Given the description of an element on the screen output the (x, y) to click on. 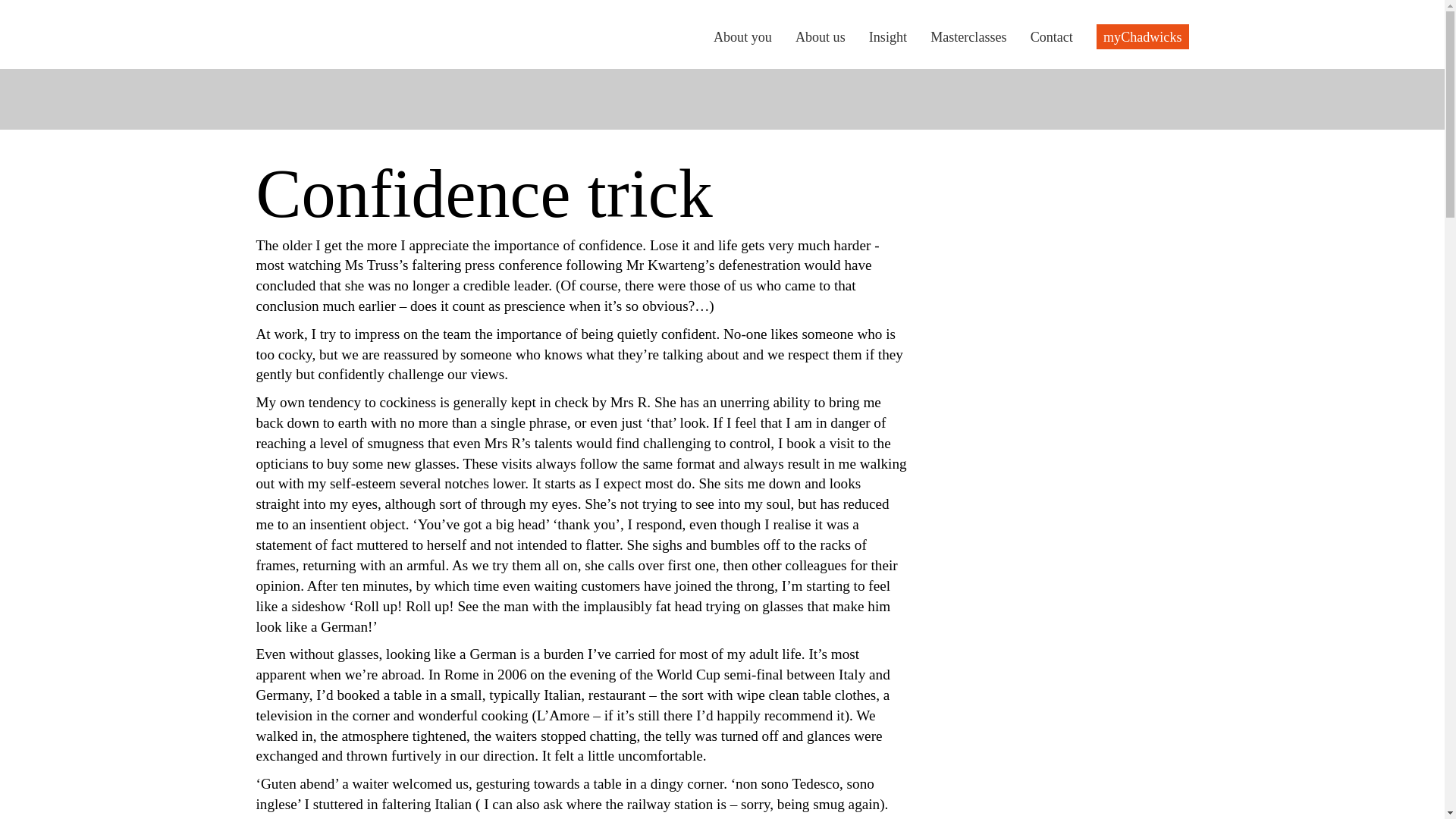
Insight (888, 36)
Contact (1051, 36)
About us (819, 36)
Masterclasses (968, 36)
Confidence trick (331, 7)
About you (742, 36)
myChadwicks (1142, 36)
